Given the description of an element on the screen output the (x, y) to click on. 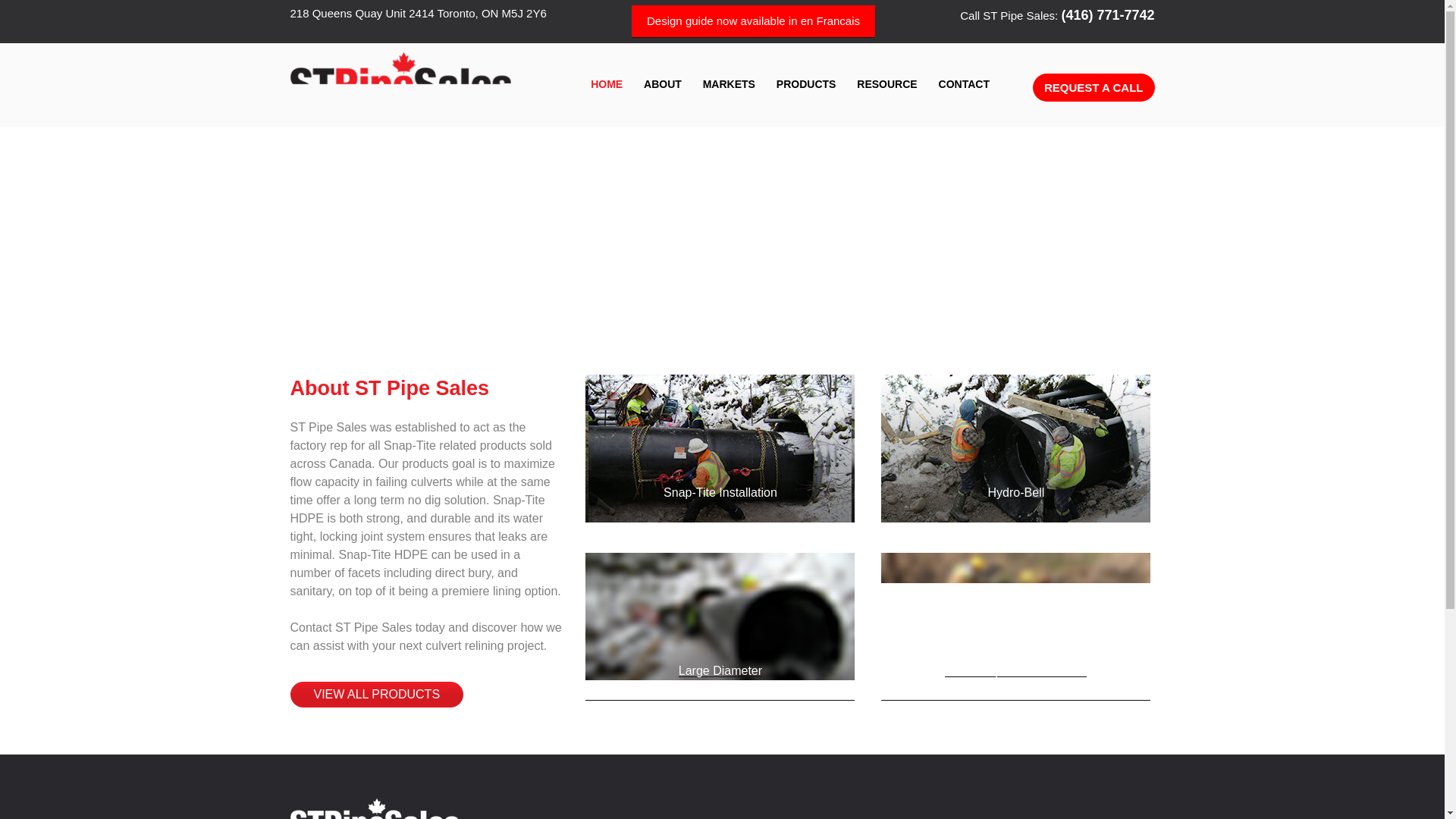
Large Diameter (719, 670)
REQUEST A CALL (1093, 86)
Oval Snap-Tite Installation (1015, 670)
RESOURCE (886, 84)
MARKETS (729, 84)
HOME (605, 84)
VIEW ALL PRODUCTS (376, 694)
CONTACT (964, 84)
ST PIPE SALES (405, 134)
Design guide now available in en Francais (753, 20)
ABOUT (662, 84)
PRODUCTS (806, 84)
Snap-Tite Installation (720, 492)
Hydro-Bell (1016, 492)
